Given the description of an element on the screen output the (x, y) to click on. 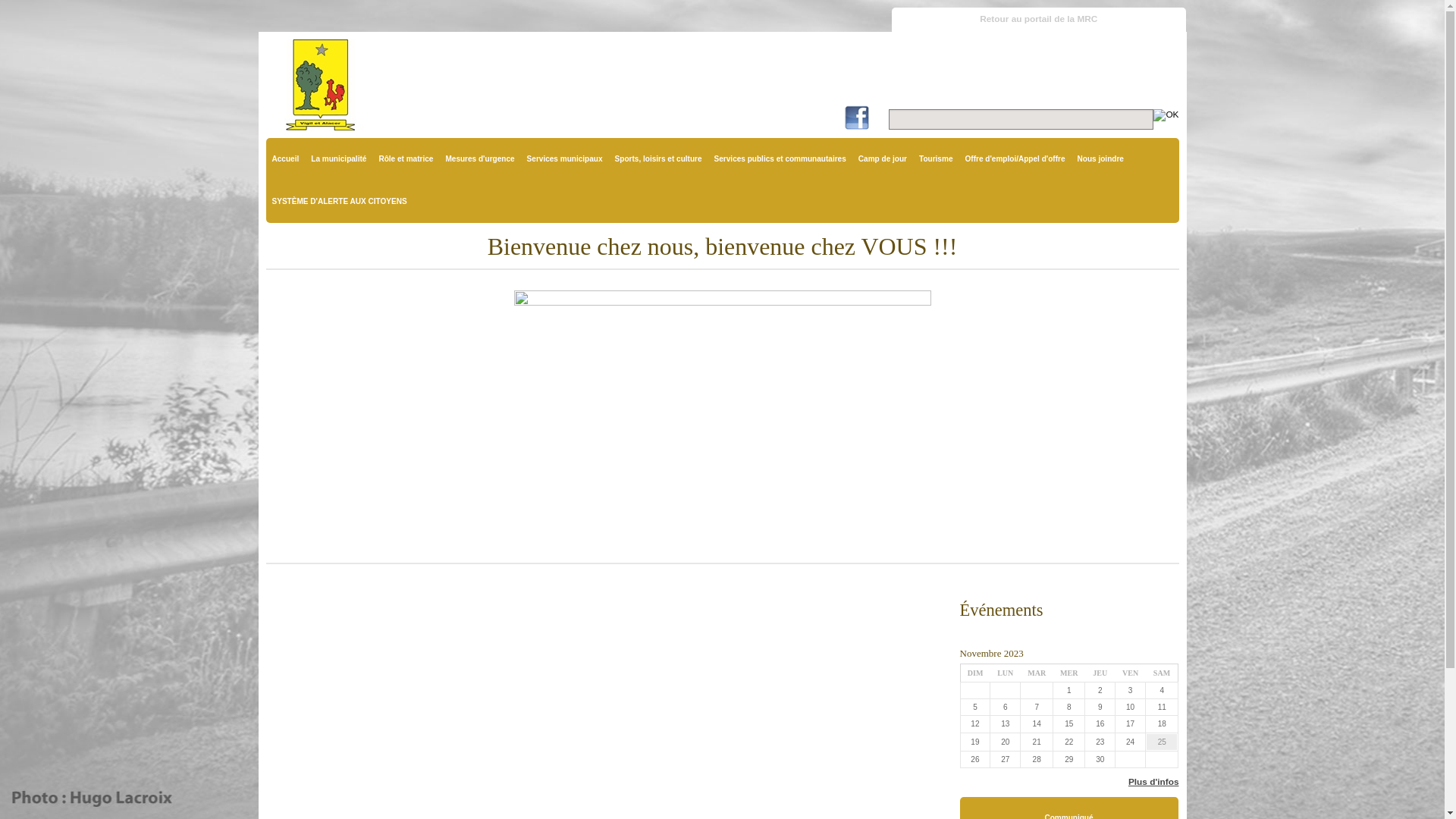
Services municipaux Element type: text (564, 159)
Services publics et communautaires Element type: text (780, 159)
Nous joindre Element type: text (1100, 159)
Tourisme Element type: text (935, 159)
Retour au portail de la MRC Element type: text (1038, 19)
Offre d'emploi/Appel d'offre Element type: text (1014, 159)
Plus d'infos Element type: text (1146, 781)
Accueil Element type: text (284, 159)
Sports, loisirs et culture Element type: text (658, 159)
Mesures d'urgence Element type: text (479, 159)
Camp de jour Element type: text (882, 159)
